Given the description of an element on the screen output the (x, y) to click on. 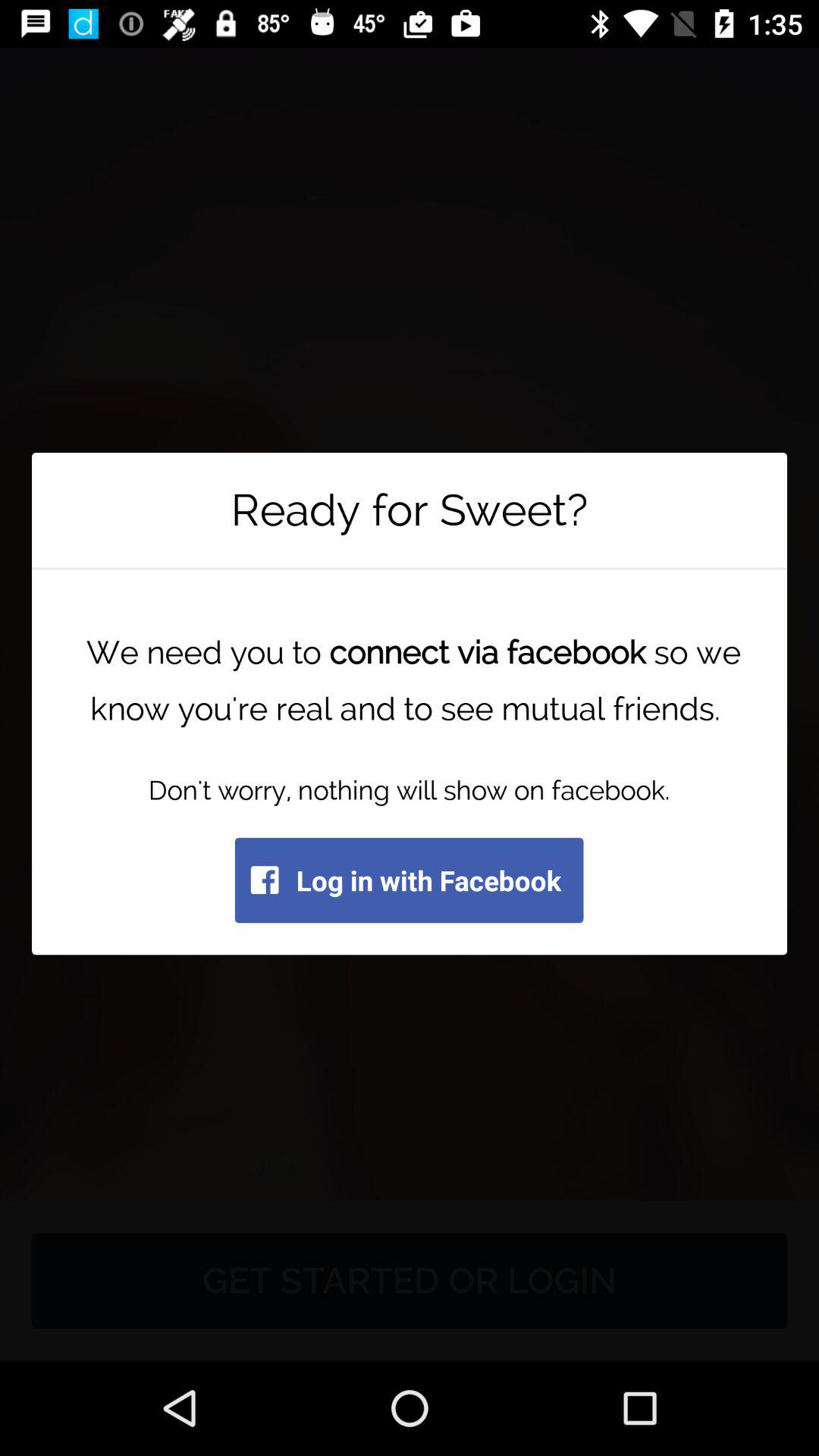
turn on item below the don t worry (408, 880)
